Given the description of an element on the screen output the (x, y) to click on. 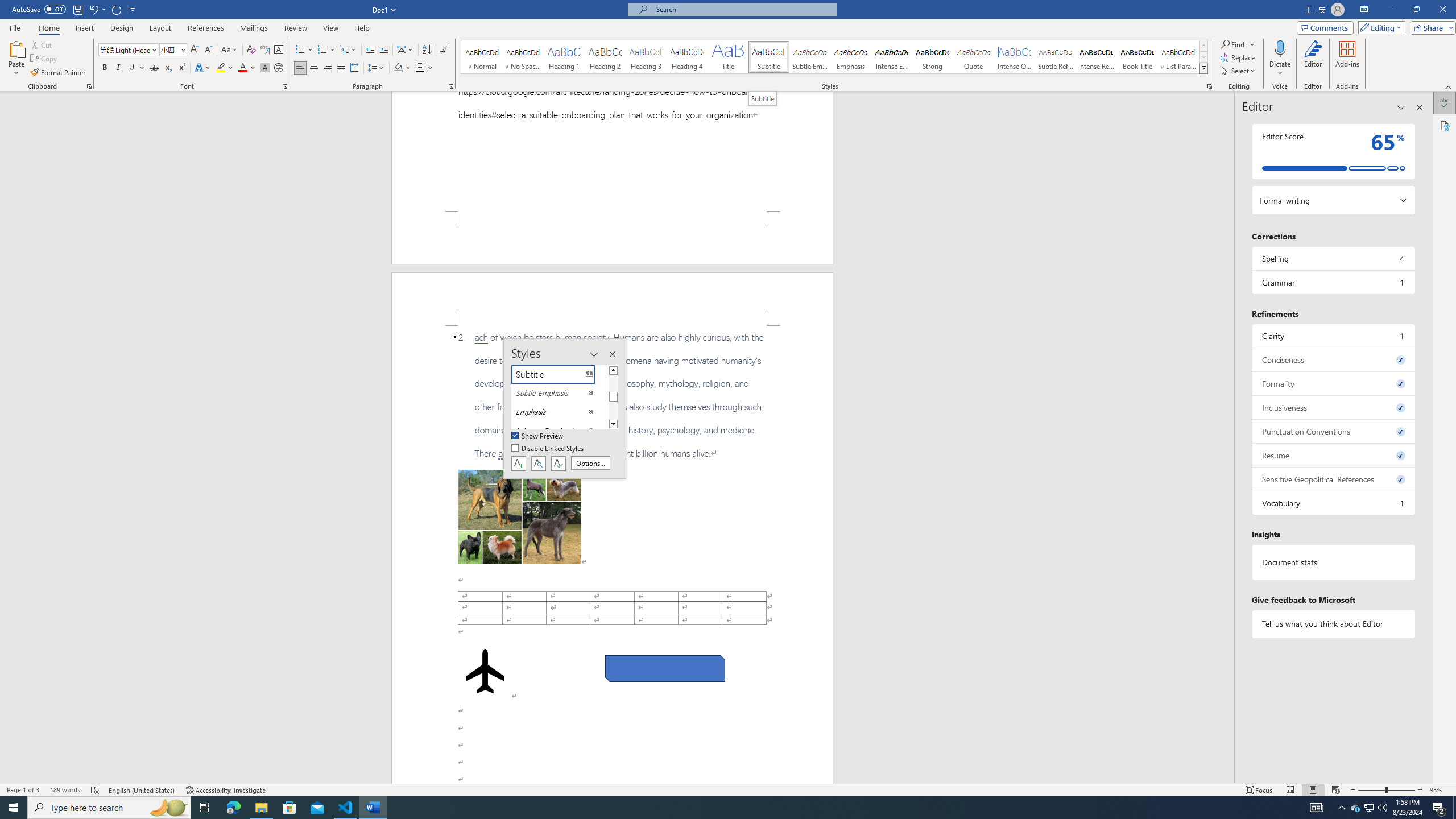
Styles... (1209, 85)
Numbering (322, 49)
Customize Quick Access Toolbar (133, 9)
Share (1430, 27)
Help (361, 28)
Spelling and Grammar Check Errors (94, 790)
Insert (83, 28)
Options... (590, 463)
Disable Linked Styles (548, 448)
File Tab (15, 27)
Resume, 0 issues. Press space or enter to review items. (1333, 454)
References (205, 28)
Design (122, 28)
